Given the description of an element on the screen output the (x, y) to click on. 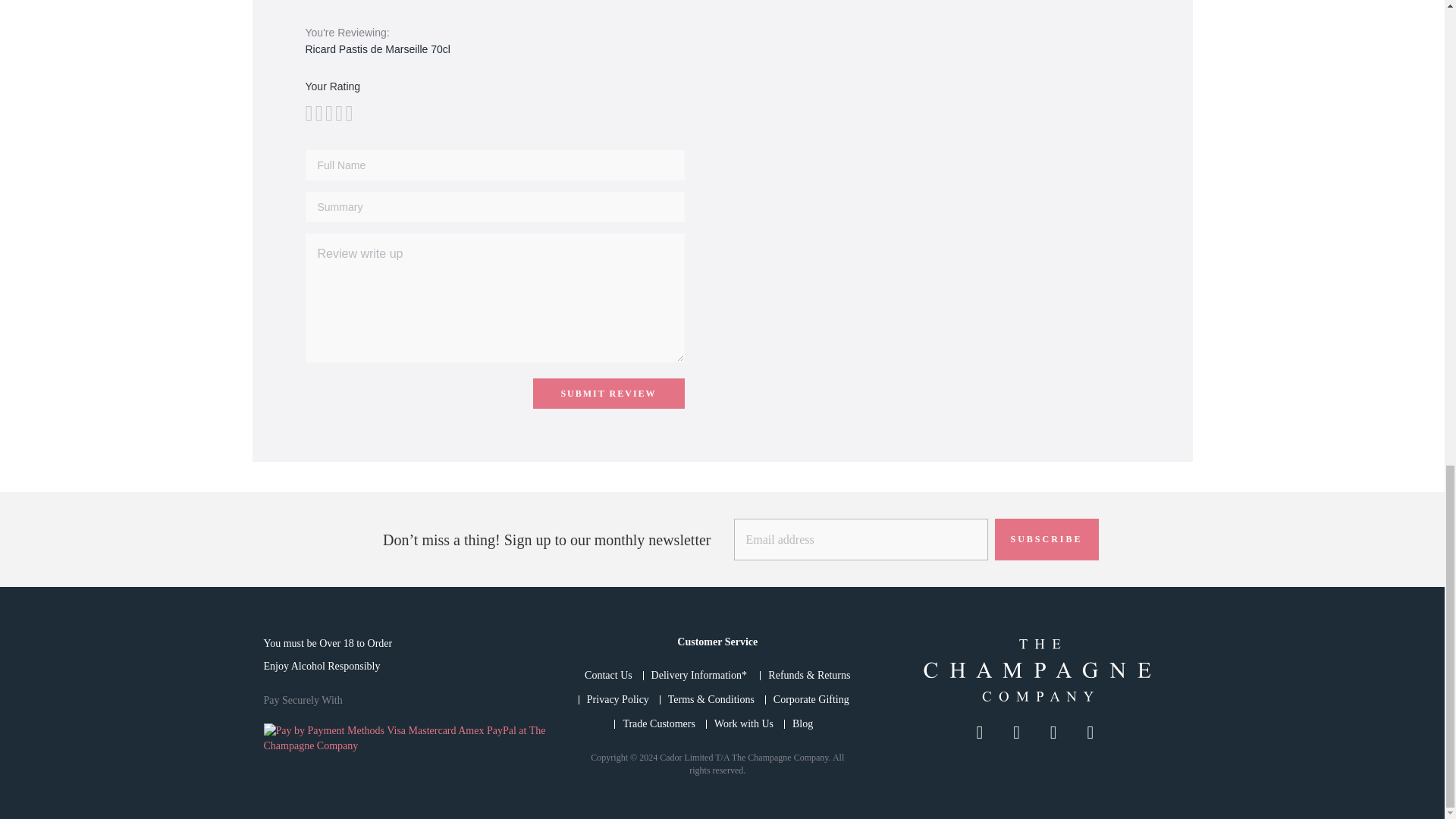
3 stars (318, 113)
Payment Methods at The Champagne Company (407, 745)
Payment Methods at The Champagne Company (407, 738)
5 stars (328, 113)
Trade Customers (659, 723)
Subscribe (1046, 539)
